Given the description of an element on the screen output the (x, y) to click on. 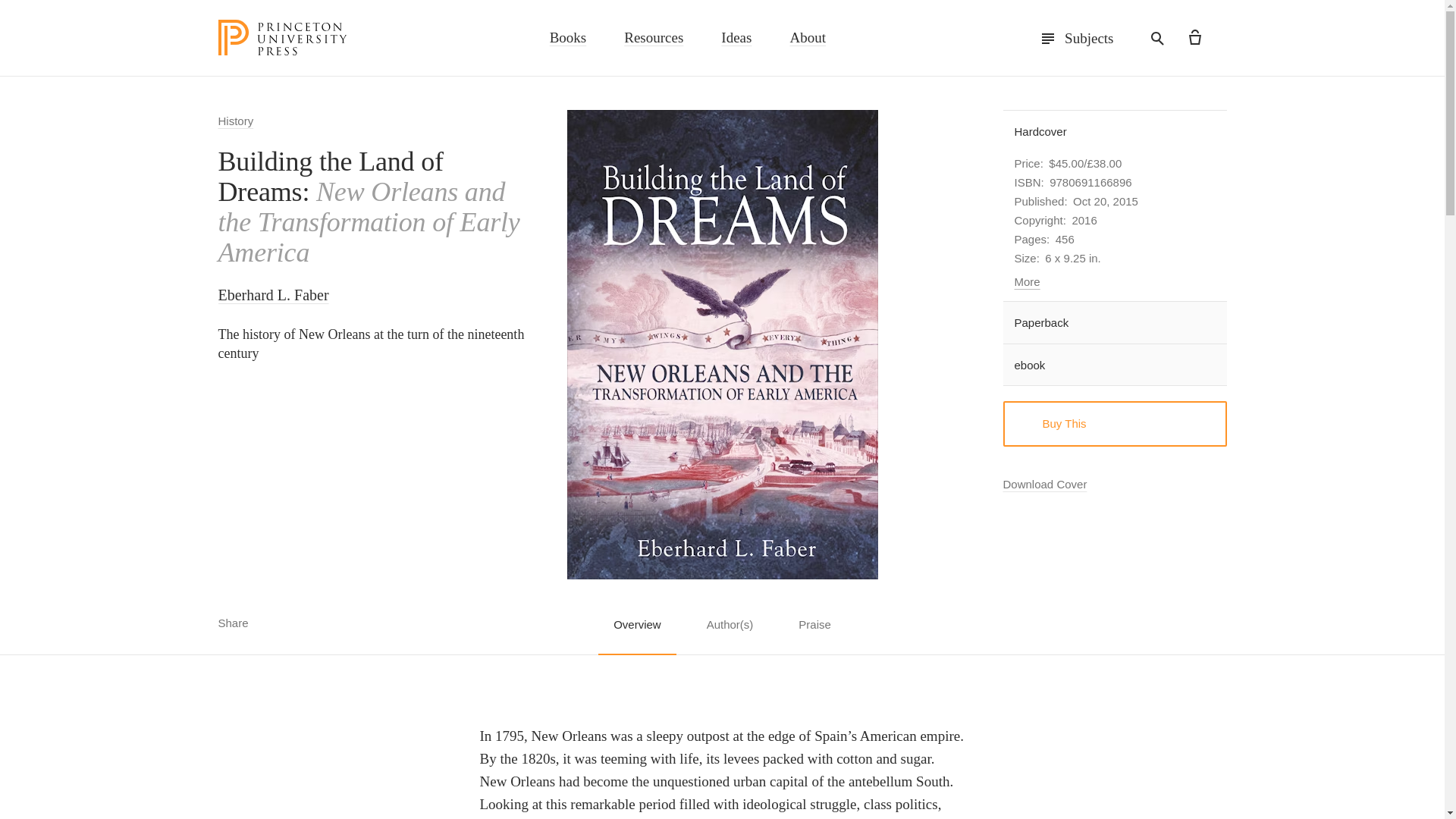
About (807, 41)
Share (243, 622)
Home (282, 37)
Buy This (1114, 423)
Books (568, 41)
ebook (1114, 364)
History (235, 124)
Browse Books (568, 41)
Overview (636, 632)
Paperback (1114, 322)
